Given the description of an element on the screen output the (x, y) to click on. 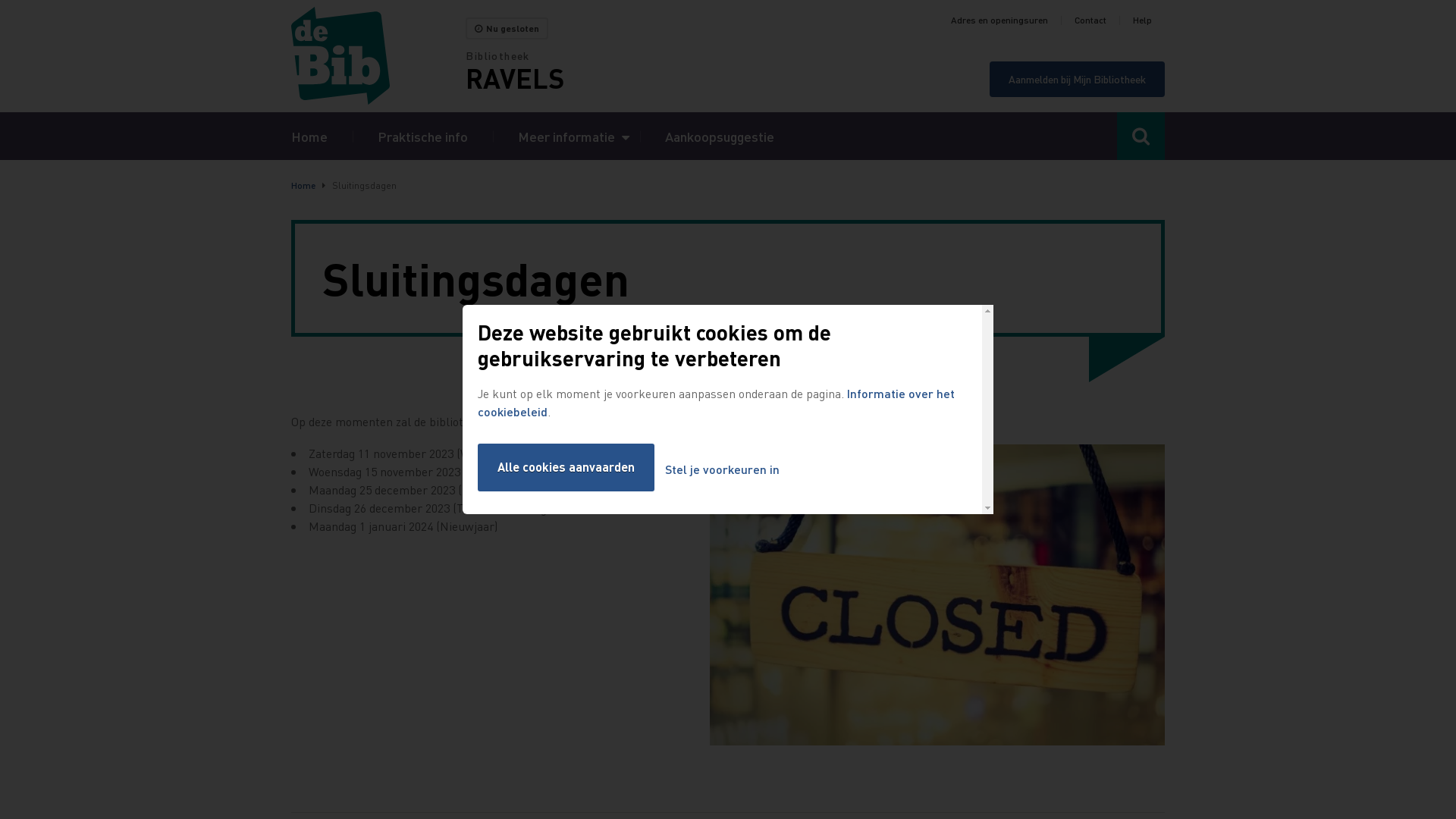
Praktische info Element type: text (422, 136)
Aankoopsuggestie Element type: text (719, 136)
Home Element type: text (303, 185)
Stel je voorkeuren in Element type: text (722, 469)
Contact Element type: text (1090, 20)
Afbeelding gesloten Element type: hover (936, 594)
Informatie over het cookiebeleid Element type: text (715, 402)
Toggle search Element type: hover (1140, 136)
Help Element type: text (1141, 20)
Home Element type: text (309, 136)
Alle cookies aanvaarden Element type: text (565, 466)
Overslaan en naar zoeken gaan Element type: text (0, 0)
Aanmelden bij Mijn Bibliotheek Element type: text (1076, 79)
Home Element type: hover (378, 55)
Nu gesloten Element type: text (506, 28)
Adres en openingsuren Element type: text (999, 20)
